Given the description of an element on the screen output the (x, y) to click on. 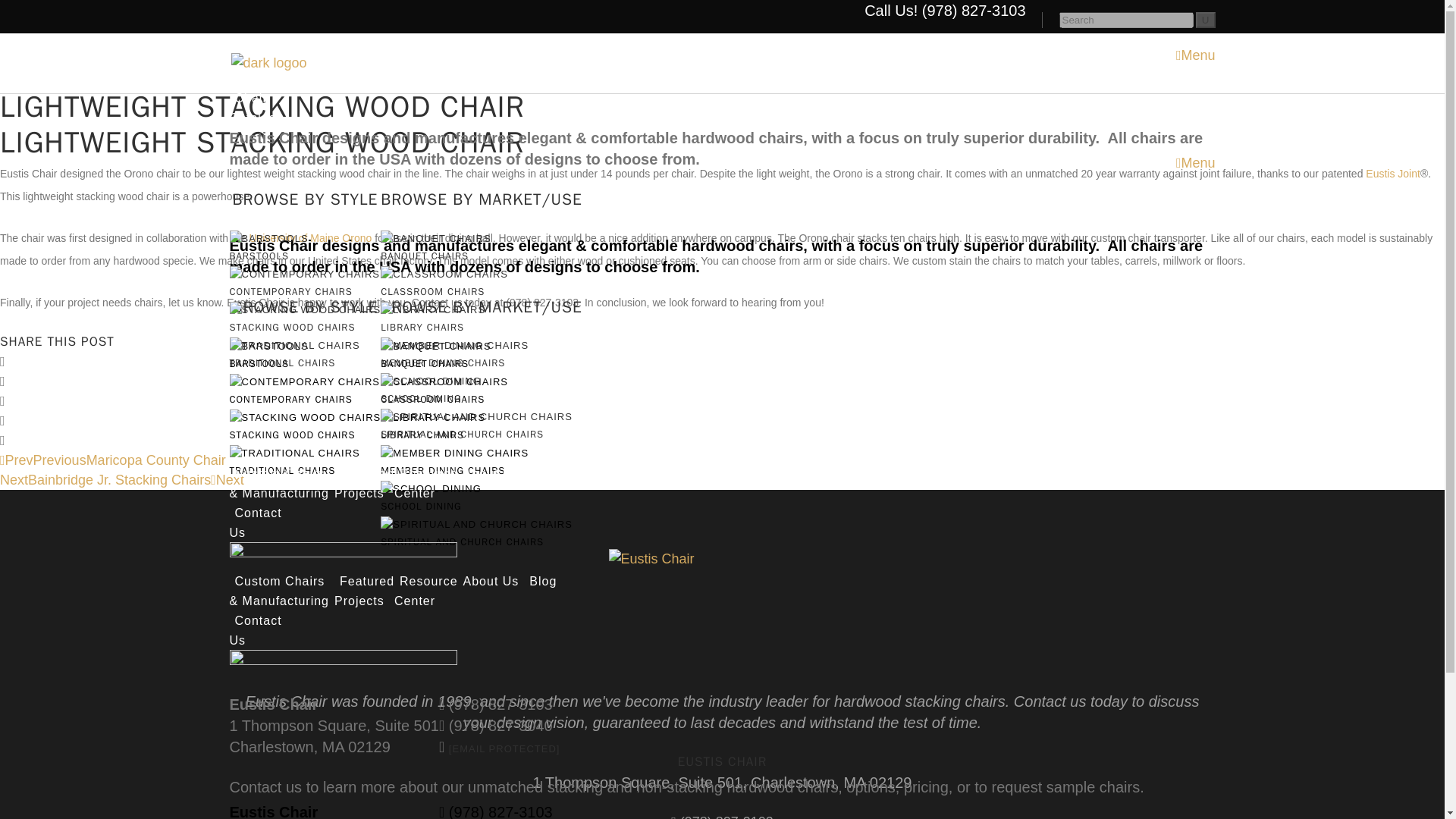
Home - The University of Maine - University of Maine (309, 237)
STACKING WOOD CHAIRS (291, 434)
Eustis Joint - Eustis Enterprises Inc (1393, 173)
SCHOOL DINING (420, 505)
U (1205, 19)
TRADITIONAL CHAIRS (281, 470)
SPIRITUAL AND CHURCH CHAIRS (461, 541)
LIBRARY CHAIRS (422, 434)
BANQUET CHAIRS (424, 363)
MEMBER DINING CHAIRS (442, 470)
